Given the description of an element on the screen output the (x, y) to click on. 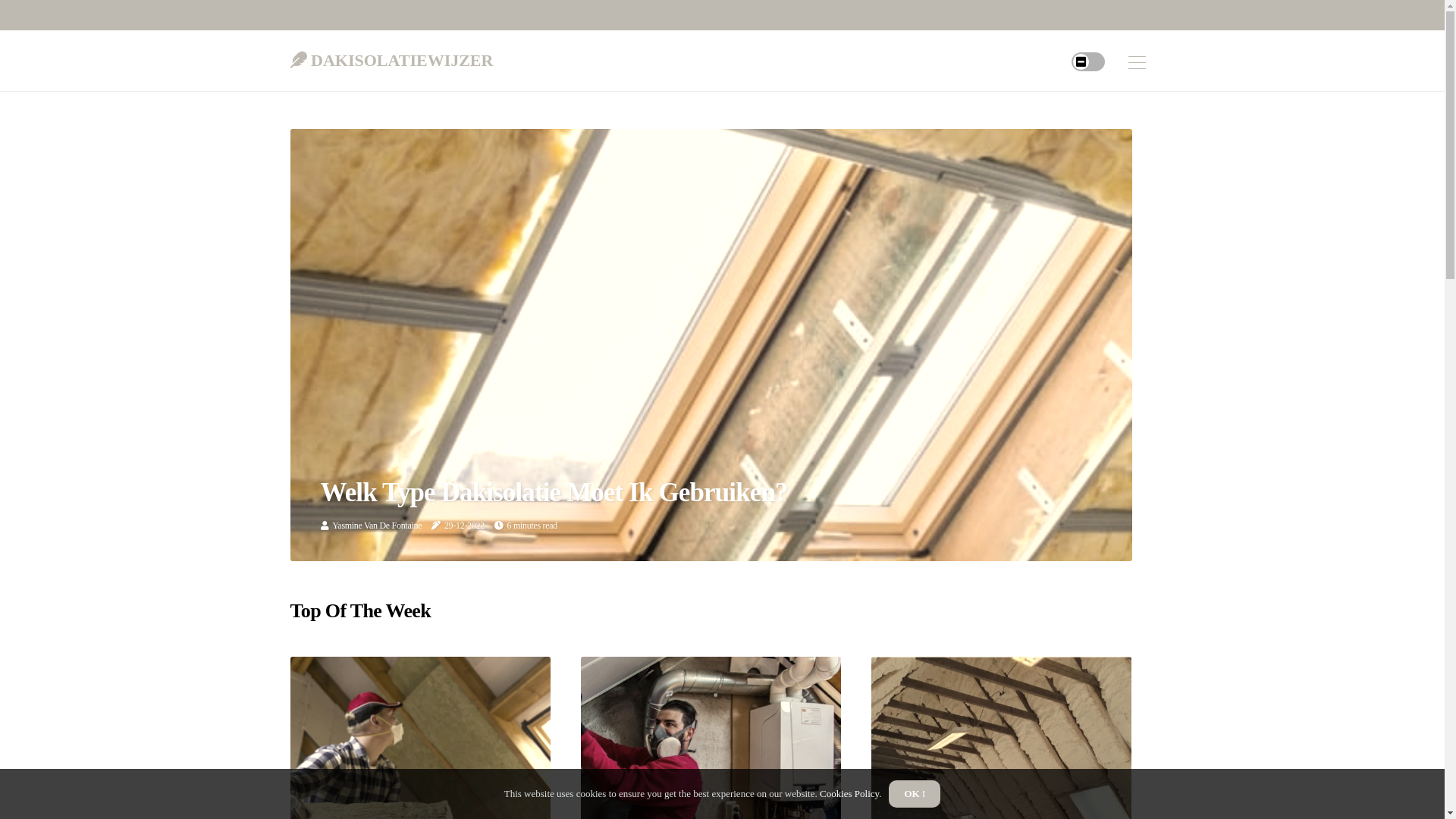
dakisolatiewijzer Element type: text (390, 56)
Welk Type Dakisolatie Moet Ik Gebruiken? Element type: text (553, 492)
Cookies Policy Element type: text (848, 793)
Yasmine Van De Fontaine Element type: text (376, 525)
